Given the description of an element on the screen output the (x, y) to click on. 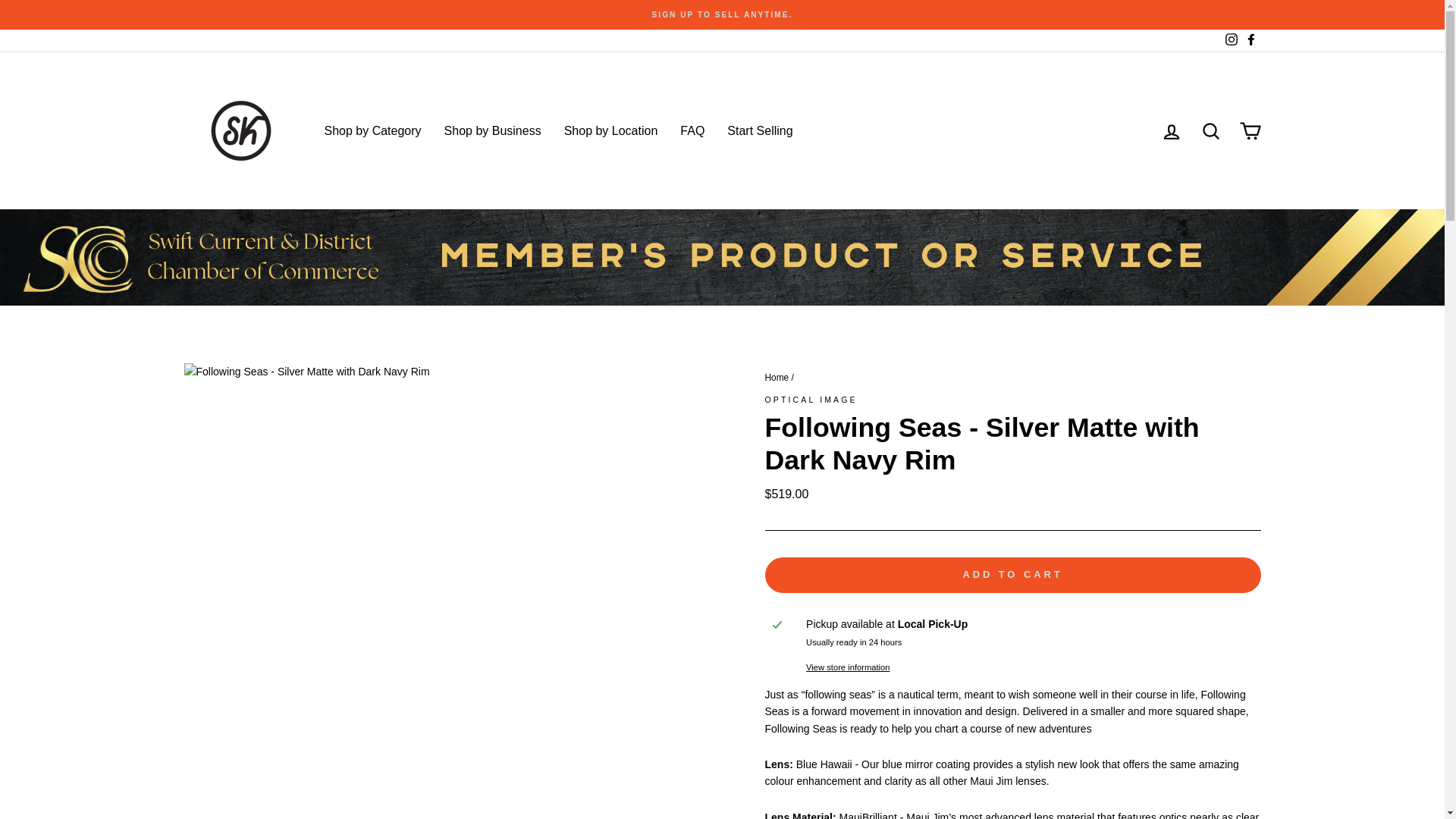
Back to the frontpage (776, 377)
Shop Southwest on Instagram (1230, 40)
Shop Southwest on Facebook (1250, 40)
Optical Image (810, 399)
